Given the description of an element on the screen output the (x, y) to click on. 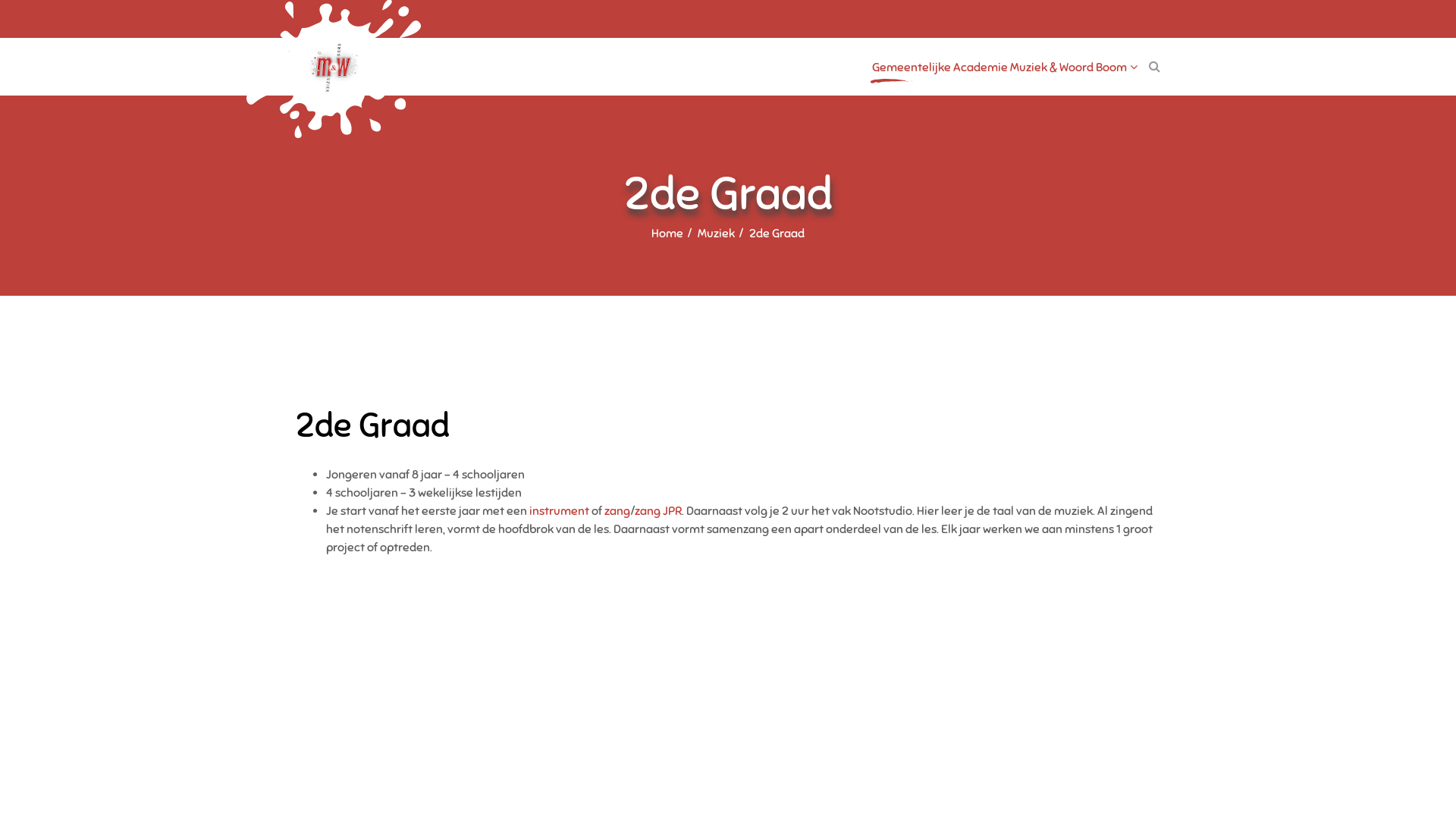
zang Element type: text (617, 510)
Gemeentelijke Academie Muziek & Woord Boom Element type: text (1004, 66)
Home Element type: text (667, 233)
Muziek Element type: text (715, 233)
instrument Element type: text (559, 510)
zang JPR Element type: text (657, 510)
